Given the description of an element on the screen output the (x, y) to click on. 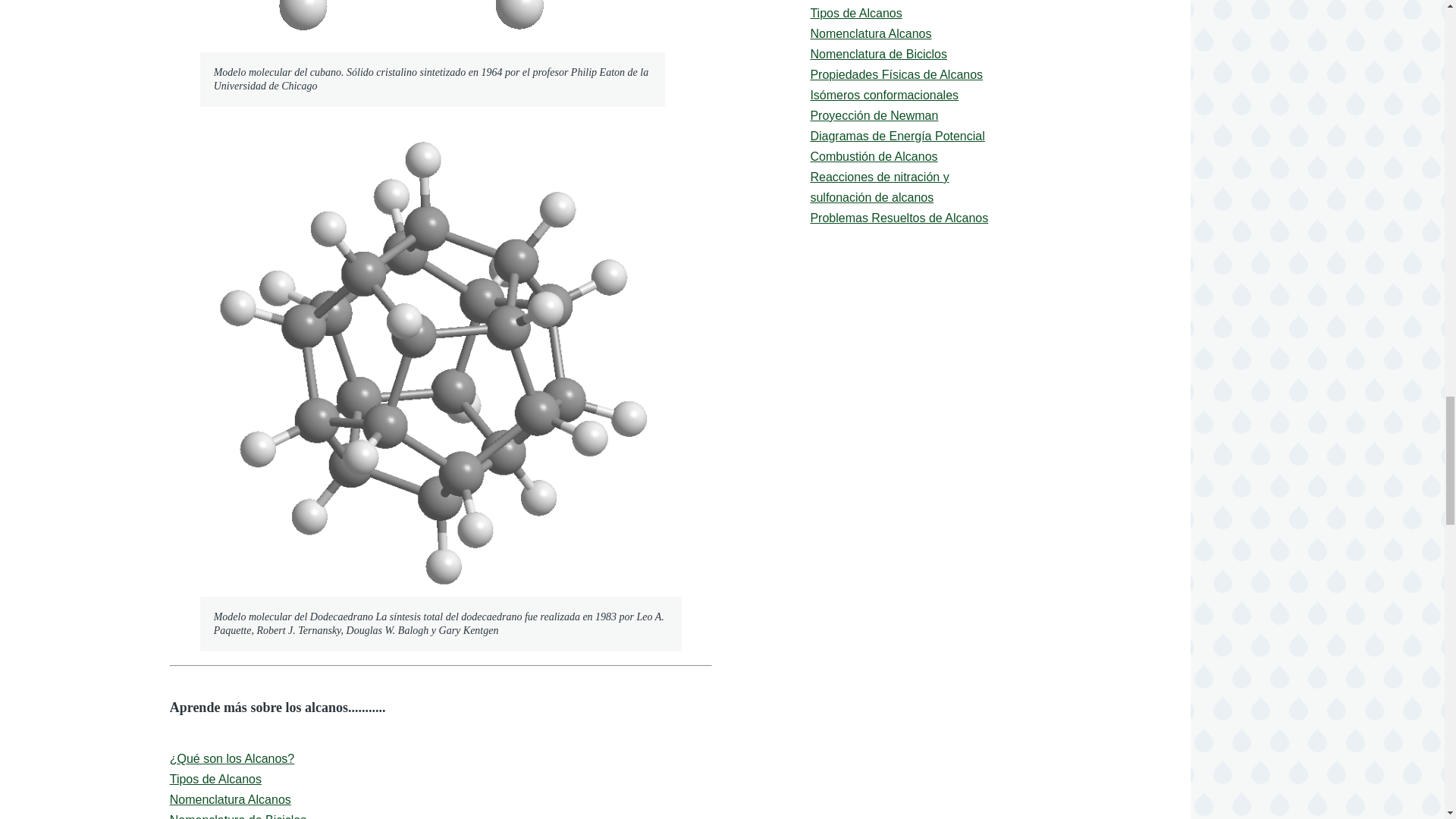
Nomenclatura Alcanos (230, 799)
Nomenclatura de Biciclos (238, 816)
Tipos de Alcanos (216, 779)
